Given the description of an element on the screen output the (x, y) to click on. 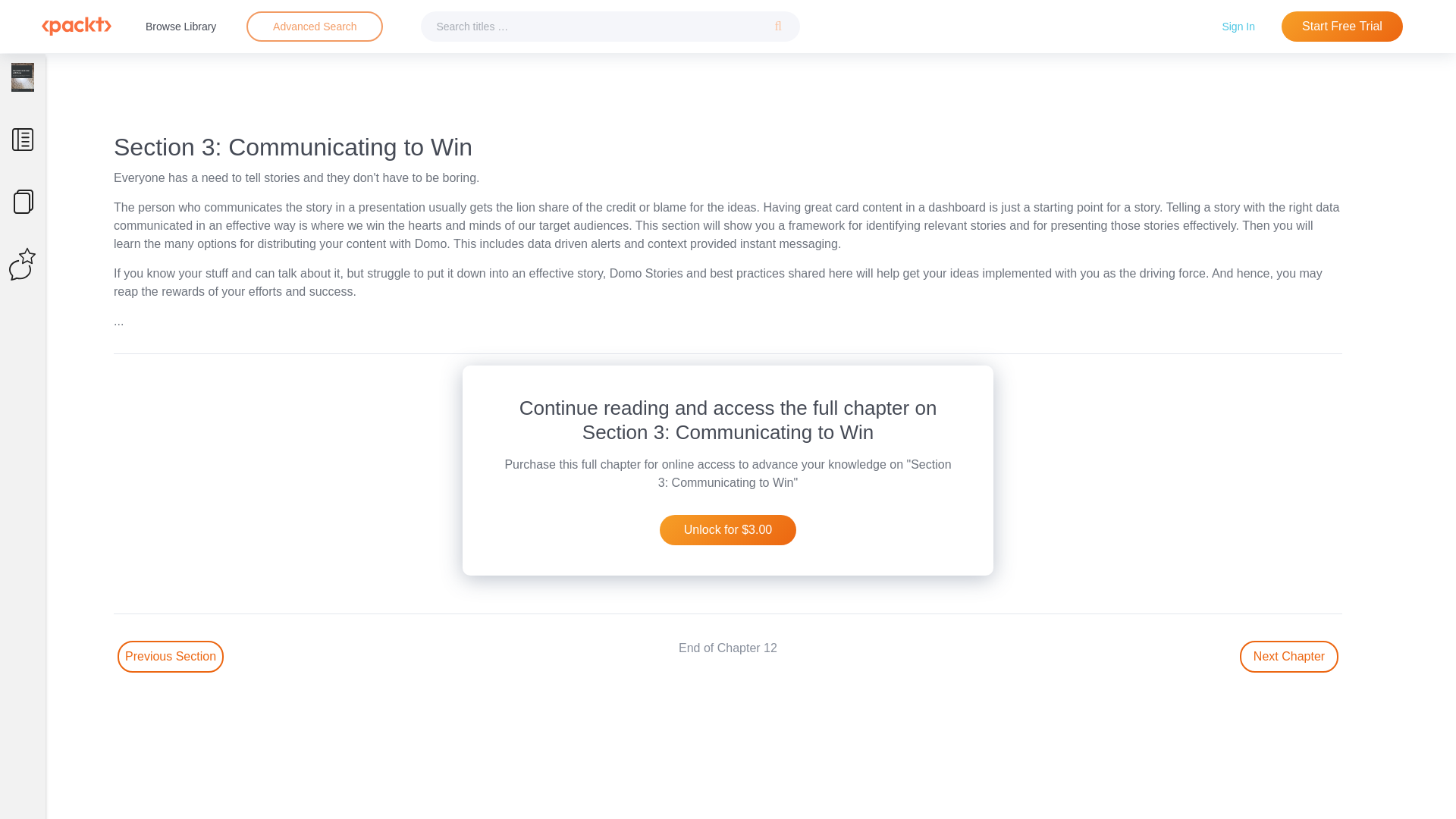
Advanced search (314, 26)
Start Free Trial (1342, 26)
Sign In (1238, 26)
Go to next section (1289, 656)
Advanced Search (315, 26)
Advanced Search (314, 26)
Browse Library (180, 26)
Go to Previous section (170, 656)
